Given the description of an element on the screen output the (x, y) to click on. 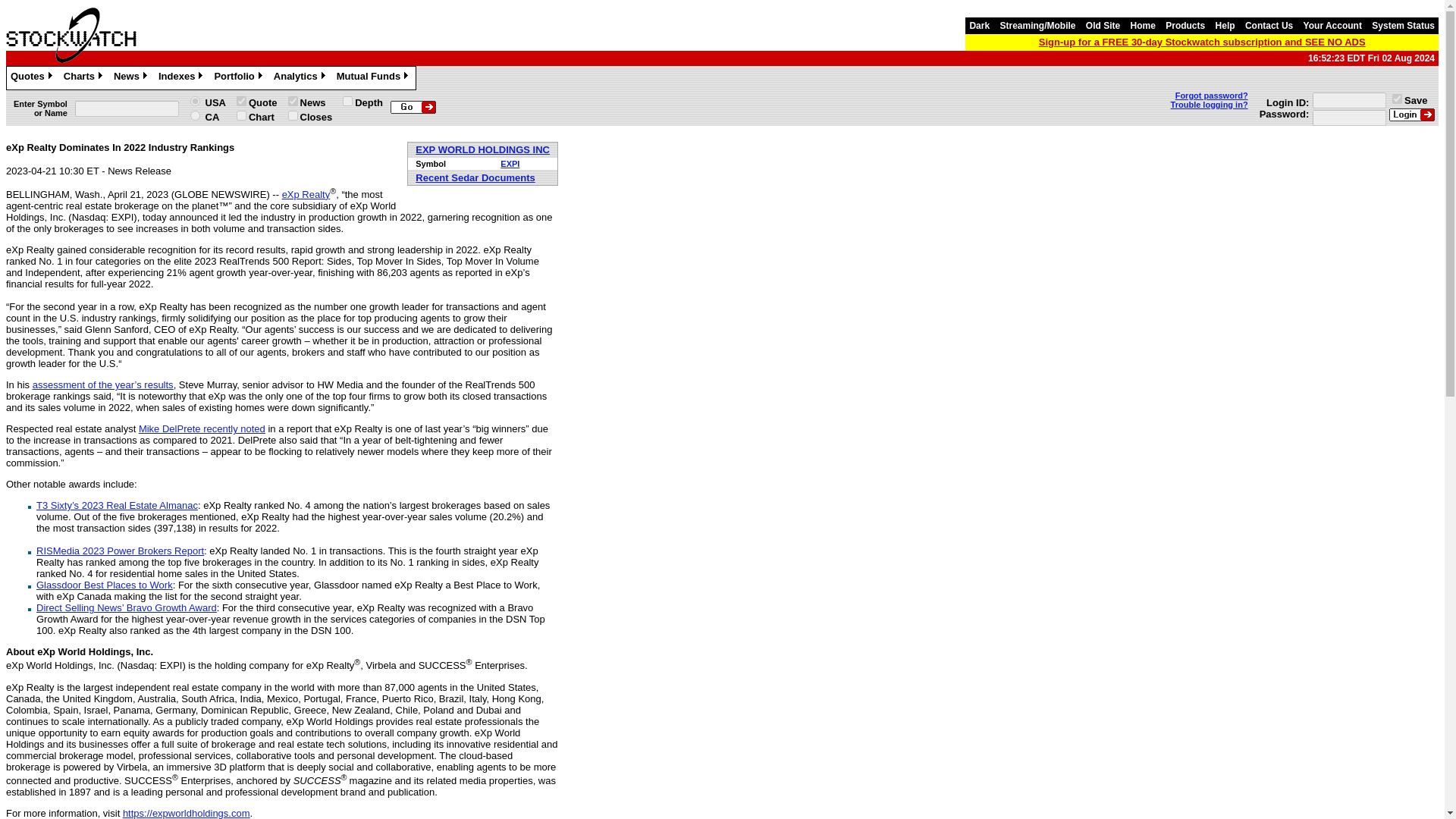
Old Site (1102, 25)
Help (1225, 25)
on (240, 115)
Dark (978, 25)
RadioCanada2 (195, 115)
on (1396, 99)
Home (1142, 25)
Contact Us (1269, 25)
on (240, 101)
